Given the description of an element on the screen output the (x, y) to click on. 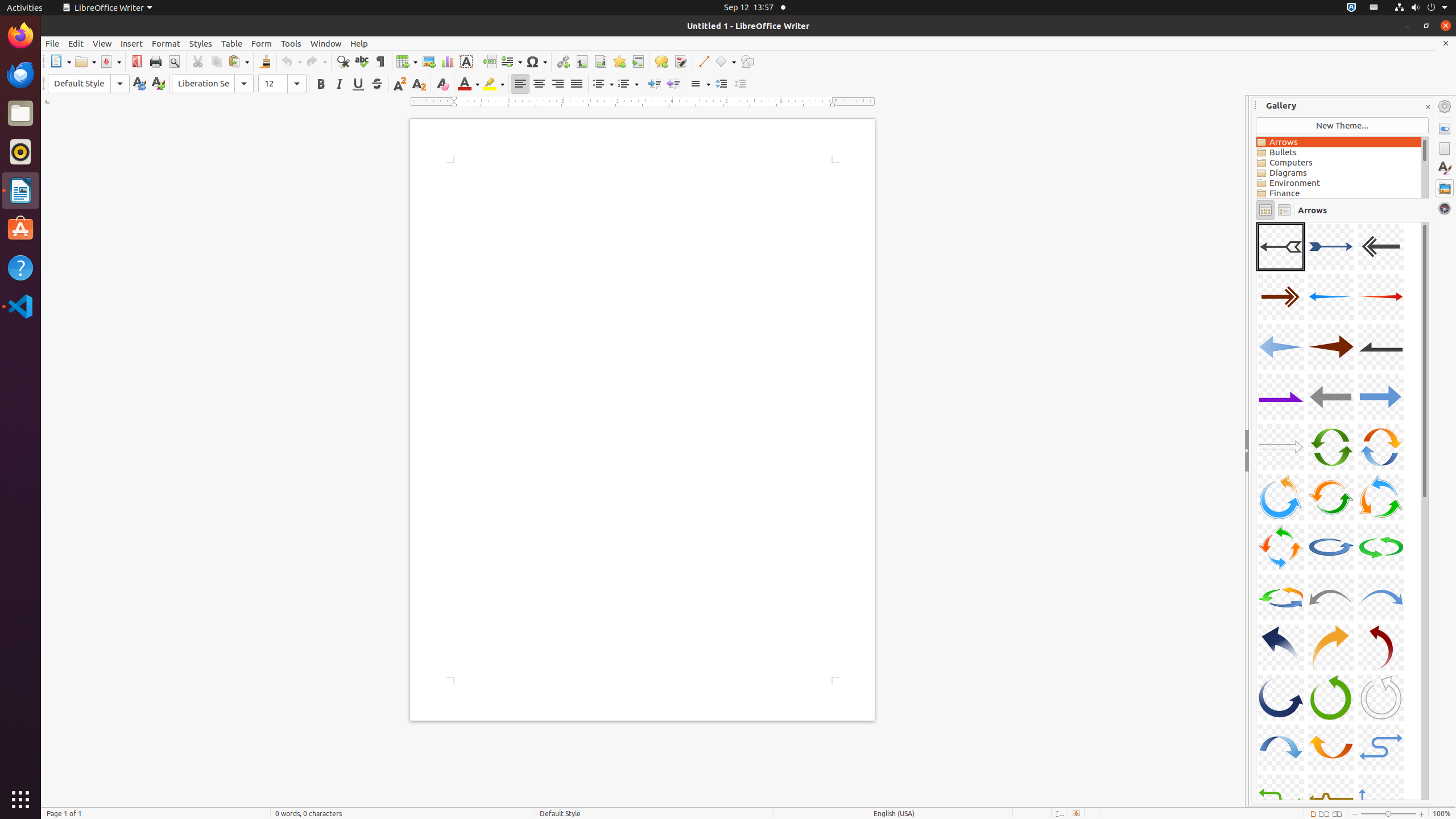
A09-Arrow-Gray-Left Element type: list-item (1380, 346)
Environment Element type: list-item (1338, 183)
Undo Element type: push-button (290, 61)
Find & Replace Element type: toggle-button (342, 61)
Footnote Element type: push-button (581, 61)
